Given the description of an element on the screen output the (x, y) to click on. 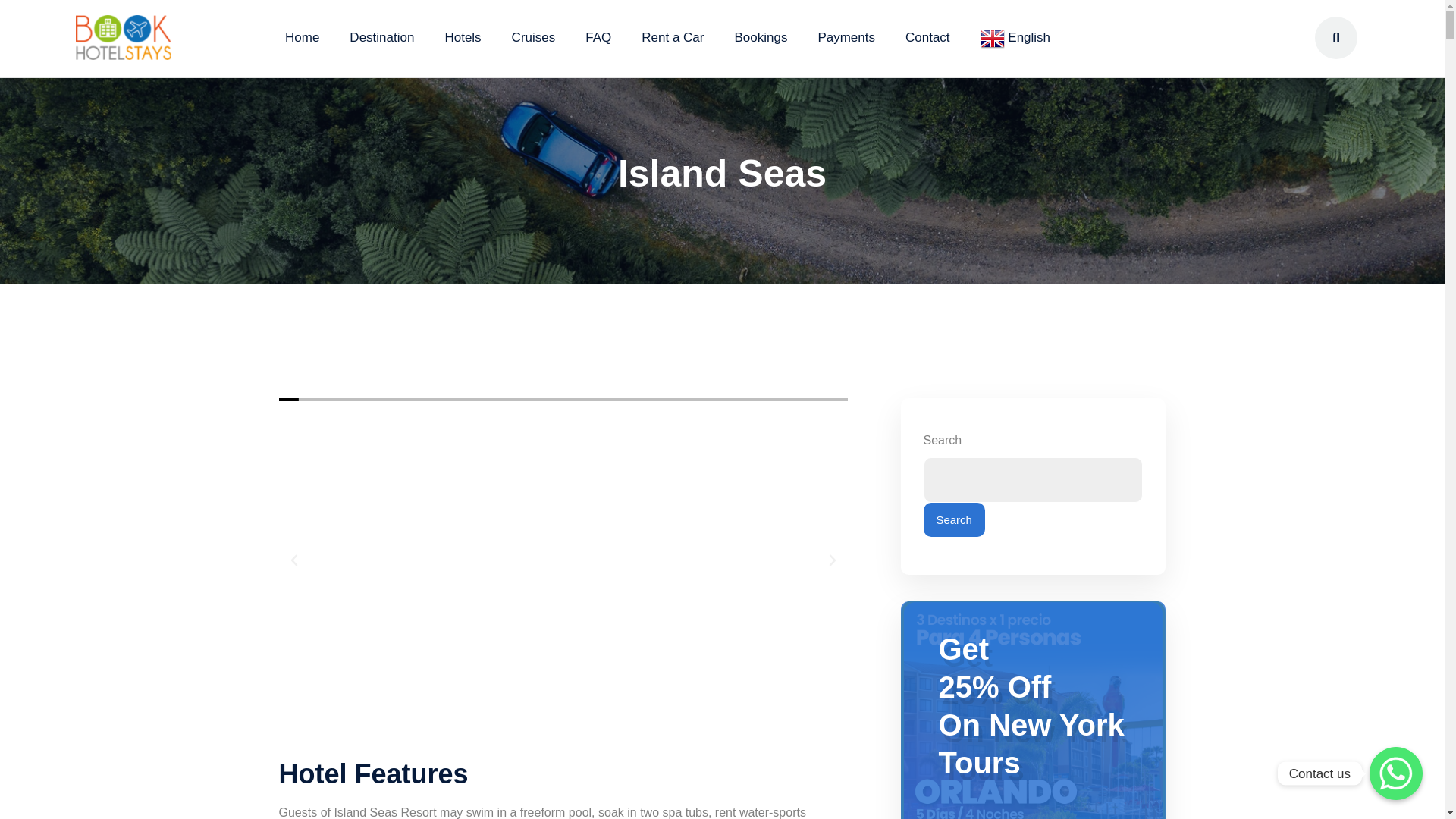
Destination (381, 37)
Home (301, 37)
